Given the description of an element on the screen output the (x, y) to click on. 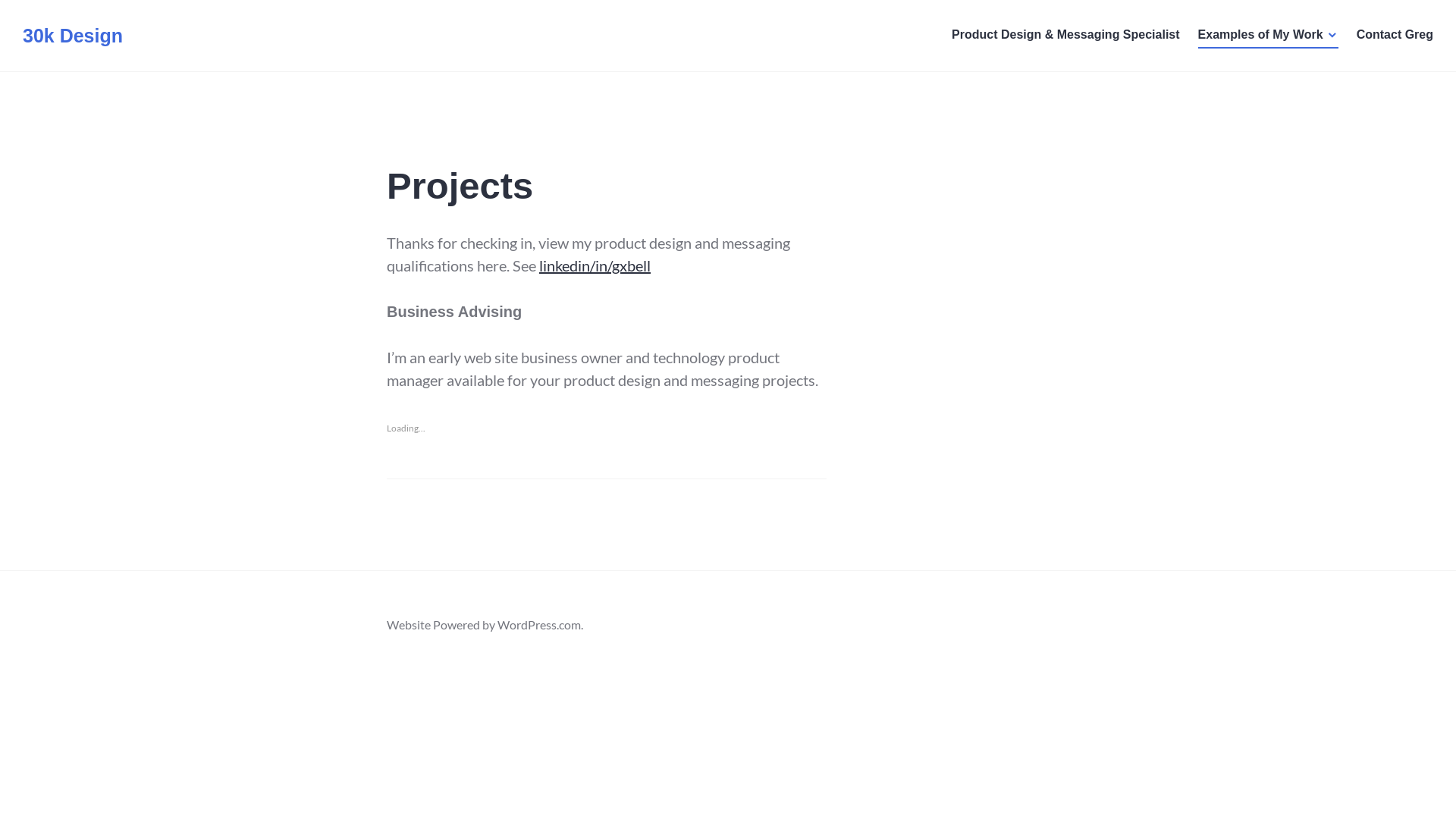
Product Design & Messaging Specialist Element type: text (1065, 35)
30k Design Element type: text (72, 35)
Website Powered by WordPress.com Element type: text (483, 624)
linkedin/in/gxbell Element type: text (594, 265)
Examples of My Work Element type: text (1268, 35)
Contact Greg Element type: text (1394, 35)
